Given the description of an element on the screen output the (x, y) to click on. 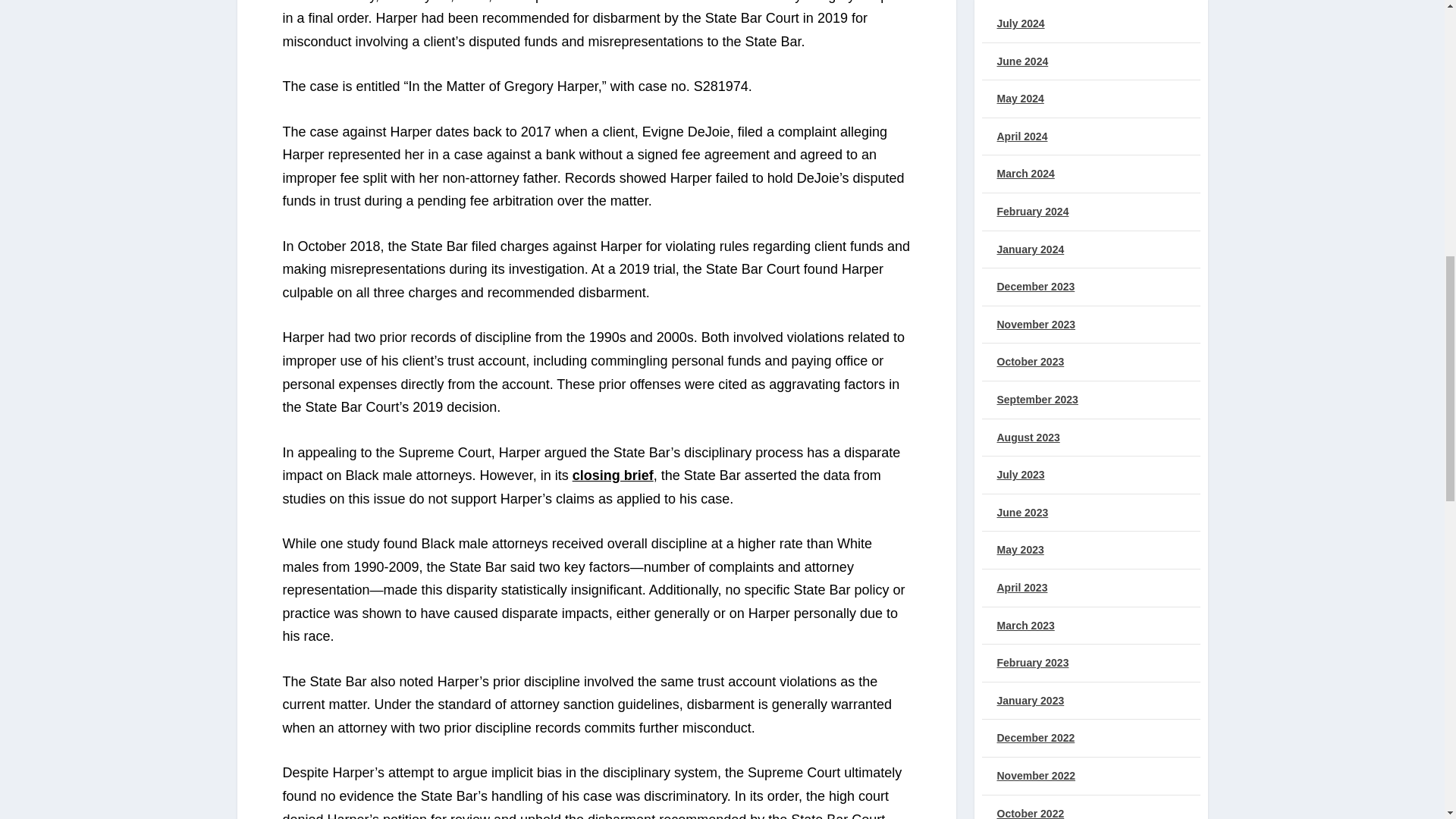
closing brief (612, 475)
